Given the description of an element on the screen output the (x, y) to click on. 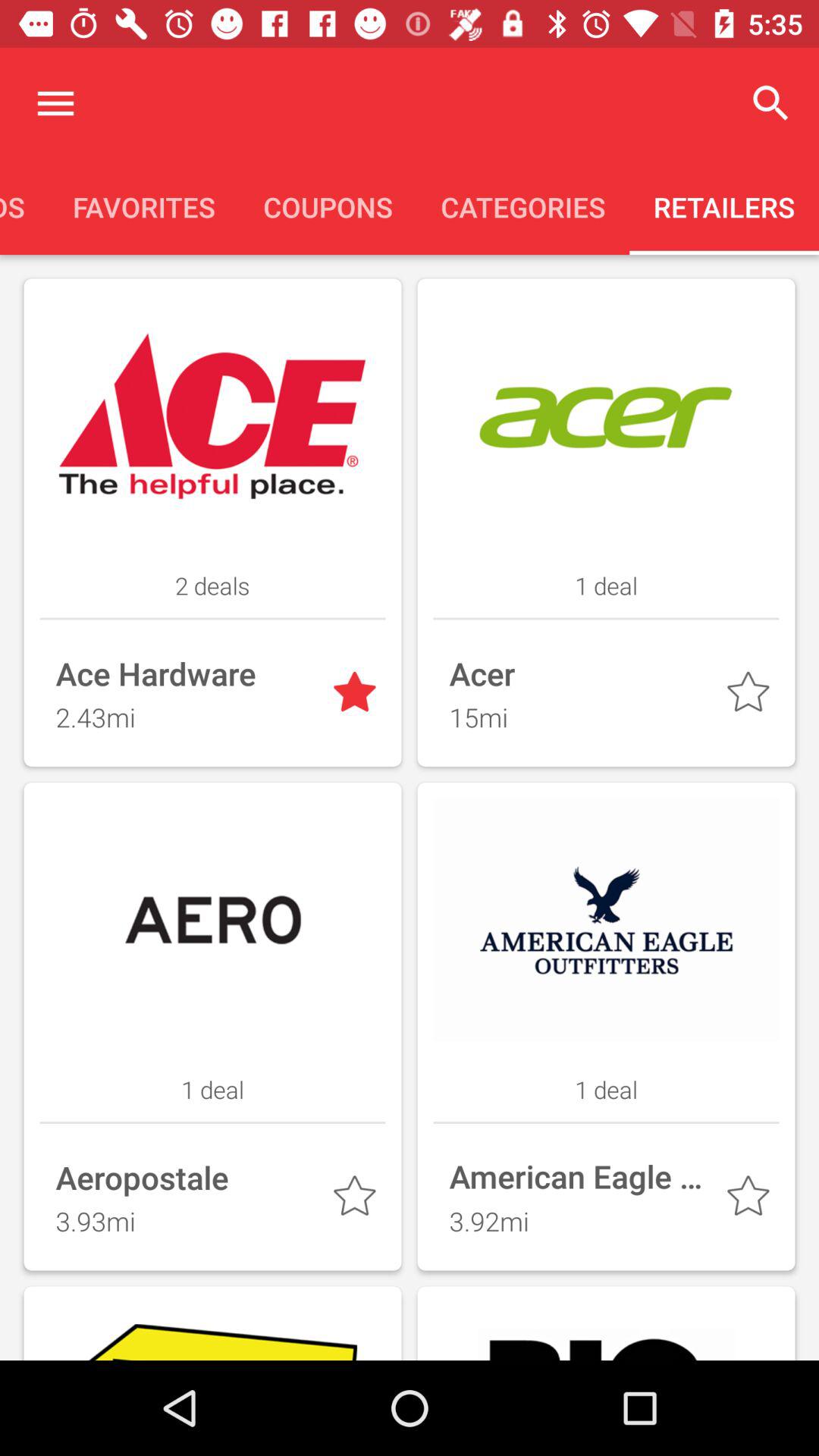
favorite (751, 695)
